Given the description of an element on the screen output the (x, y) to click on. 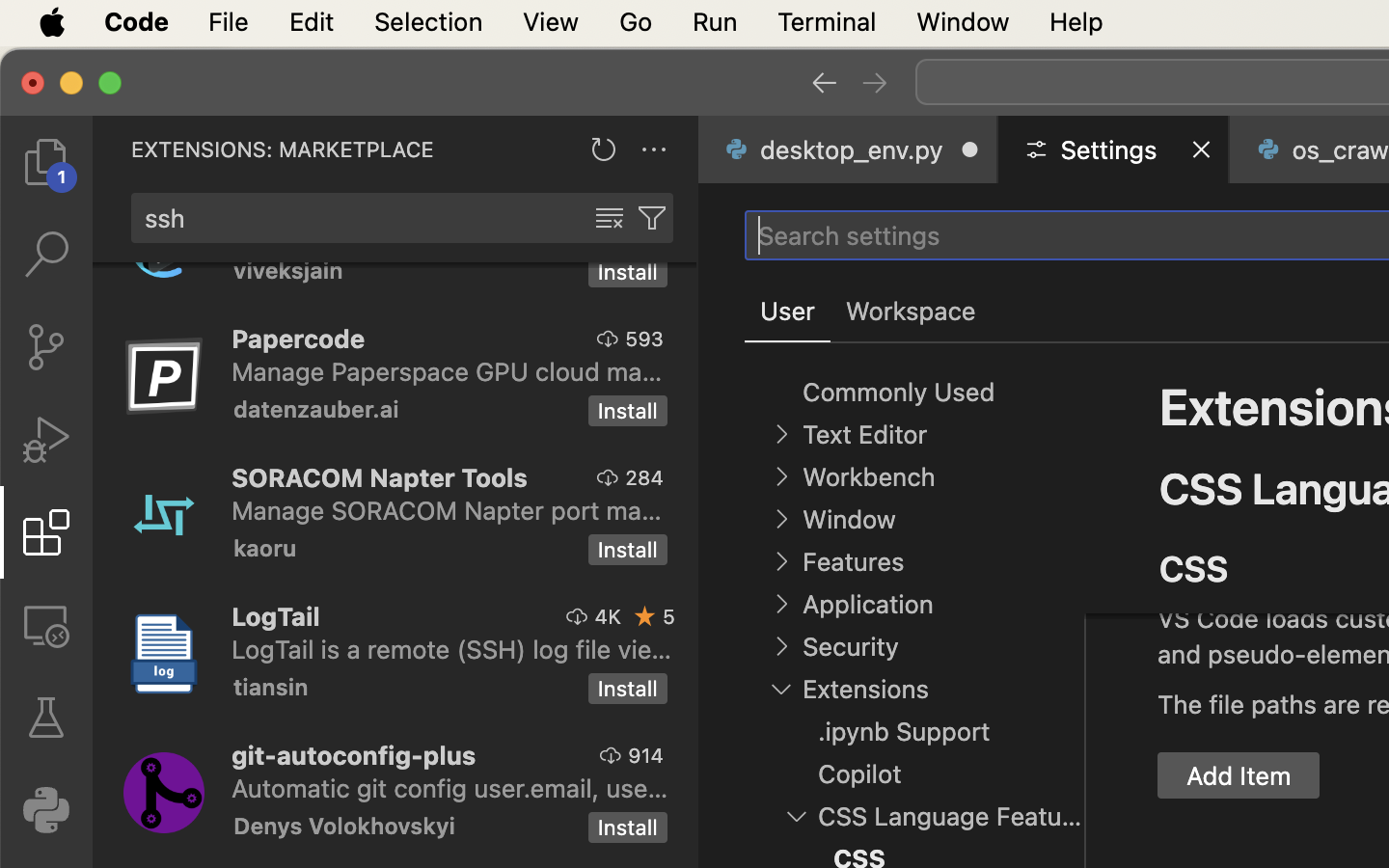
 Element type: AXGroup (46, 717)
Copilot Element type: AXStaticText (859, 773)
Extensions Element type: AXStaticText (865, 689)
 Element type: AXStaticText (780, 433)
Papercode Element type: AXStaticText (298, 338)
